Given the description of an element on the screen output the (x, y) to click on. 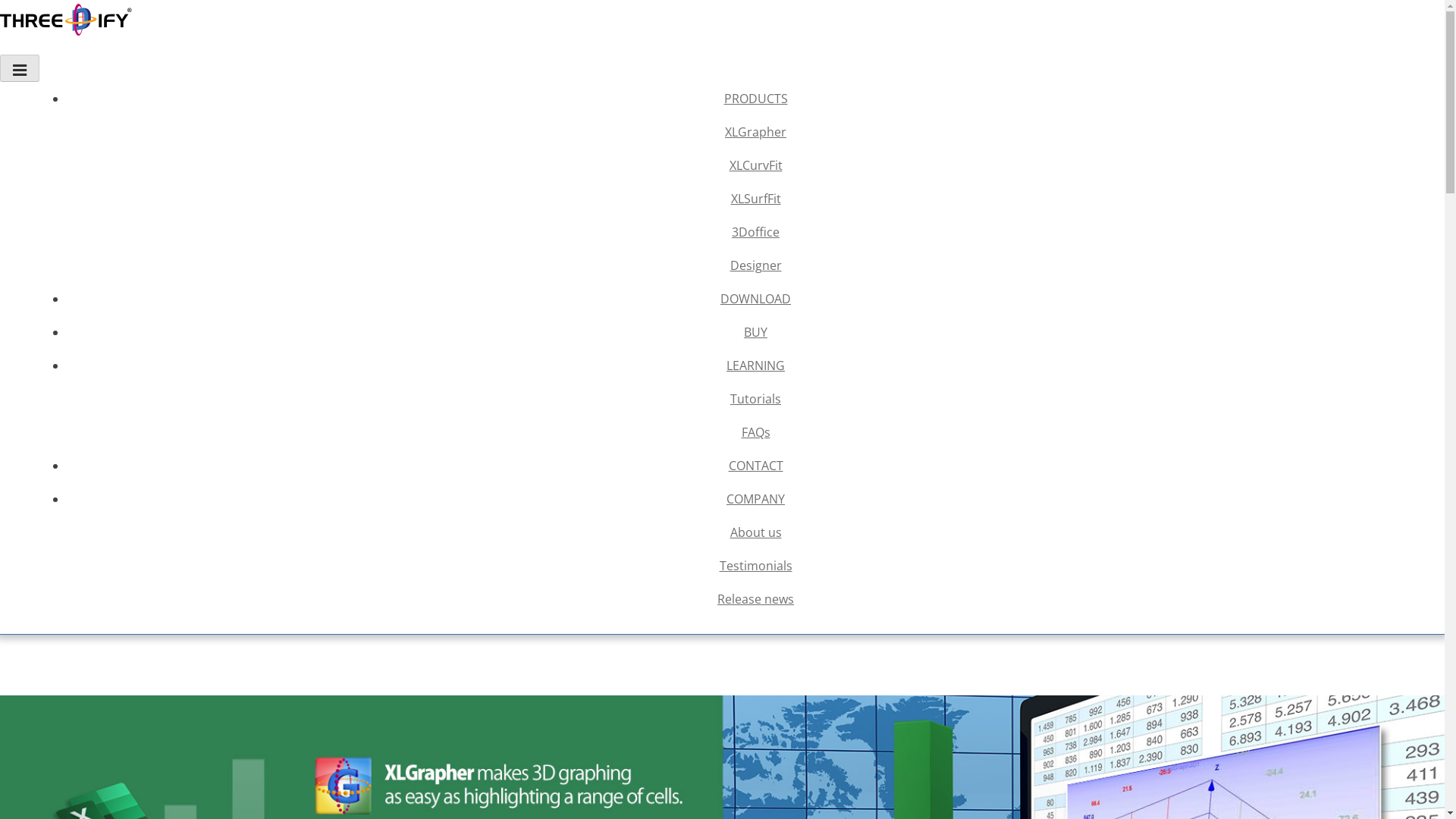
CONTACT Element type: text (755, 465)
3Doffice Element type: text (755, 231)
XLCurvFit Element type: text (755, 165)
Designer Element type: text (755, 265)
DOWNLOAD Element type: text (755, 298)
COMPANY Element type: text (755, 498)
Testimonials Element type: text (755, 565)
Release news Element type: text (755, 598)
XLGrapher Element type: text (755, 131)
About us Element type: text (755, 532)
XLSurfFit Element type: text (755, 198)
PRODUCTS Element type: text (755, 98)
Tutorials Element type: text (755, 398)
LEARNING Element type: text (755, 365)
BUY Element type: text (755, 331)
FAQs Element type: text (755, 431)
